Given the description of an element on the screen output the (x, y) to click on. 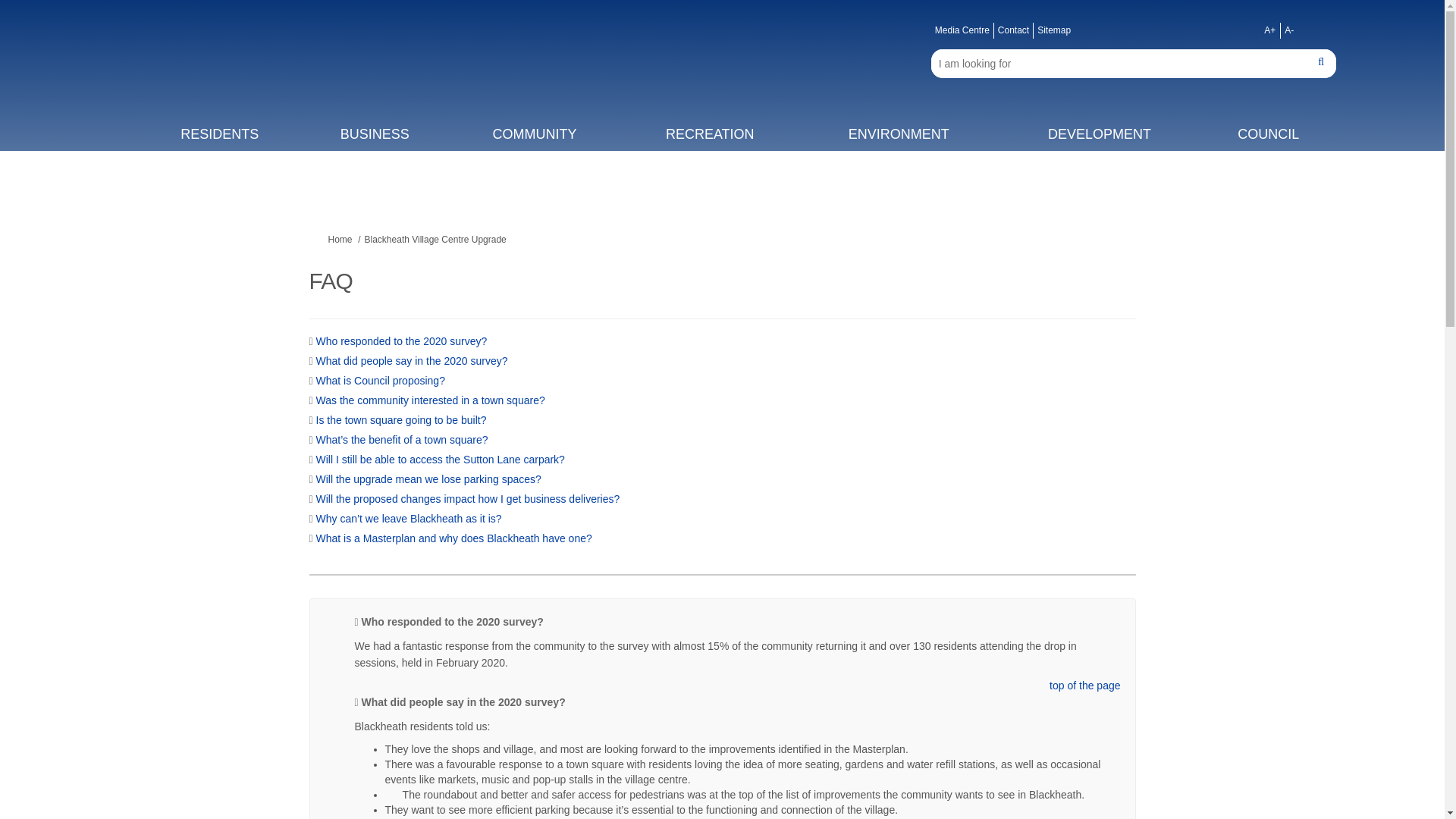
Will the upgrade mean we lose parking spaces? (428, 479)
Is the town square going to be built? (400, 419)
Contact (1013, 30)
What is Council proposing? (380, 380)
Will I still be able to access the Sutton Lane carpark? (439, 459)
COUNCIL (1268, 133)
What is a Masterplan and why does Blackheath have one? (453, 538)
What did people say in the 2020 survey? (411, 360)
Sitemap (1053, 30)
